Given the description of an element on the screen output the (x, y) to click on. 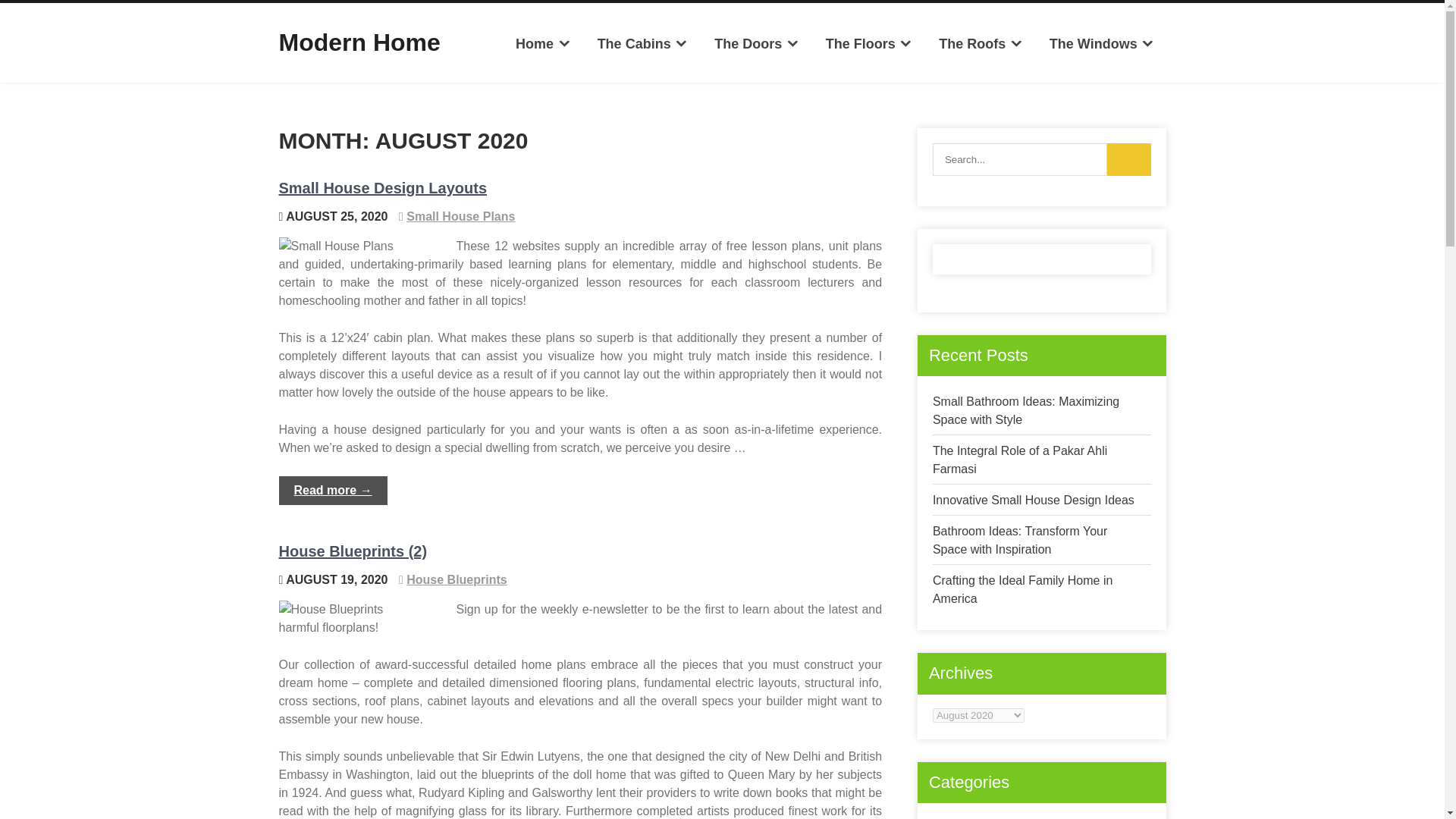
Search (1128, 159)
Modern Home (360, 42)
The Windows (1102, 44)
Home (542, 44)
Search (1128, 159)
The Roofs (980, 44)
Small House Plans (460, 215)
The Cabins (641, 44)
Small House Design Layouts (383, 187)
The Doors (756, 44)
